Given the description of an element on the screen output the (x, y) to click on. 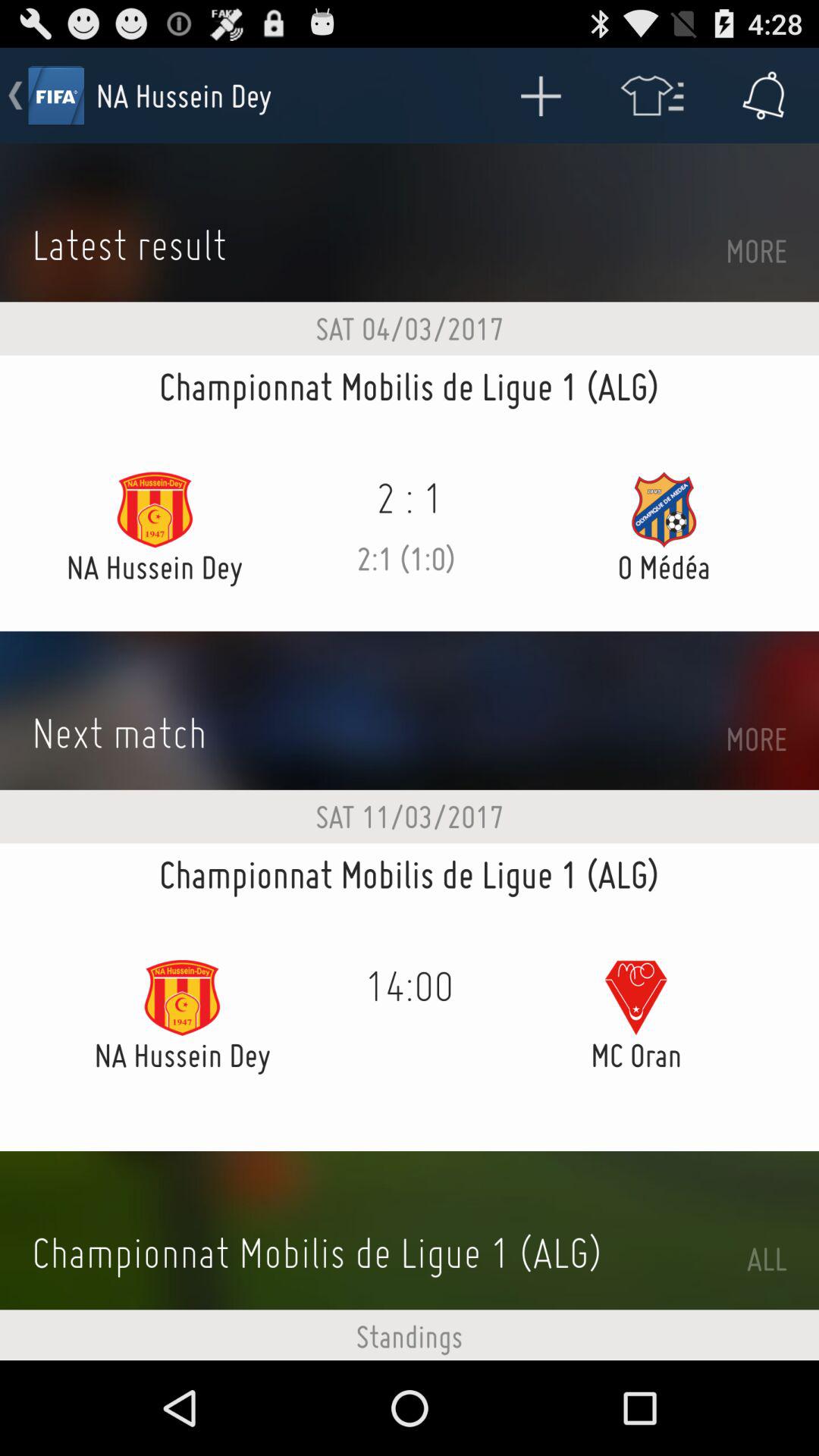
press the item above more item (763, 95)
